Given the description of an element on the screen output the (x, y) to click on. 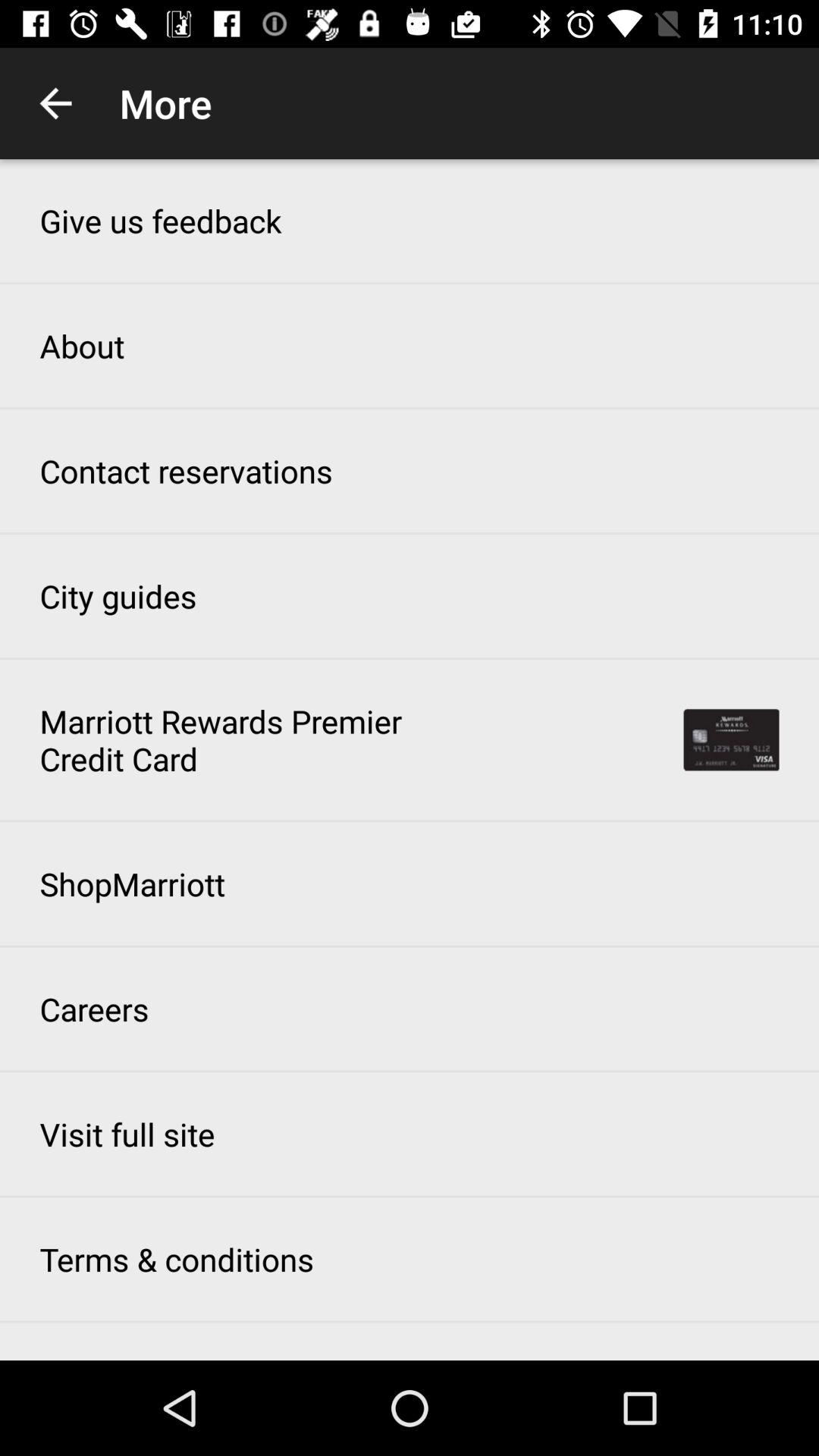
tap icon above the visit full site item (94, 1008)
